Given the description of an element on the screen output the (x, y) to click on. 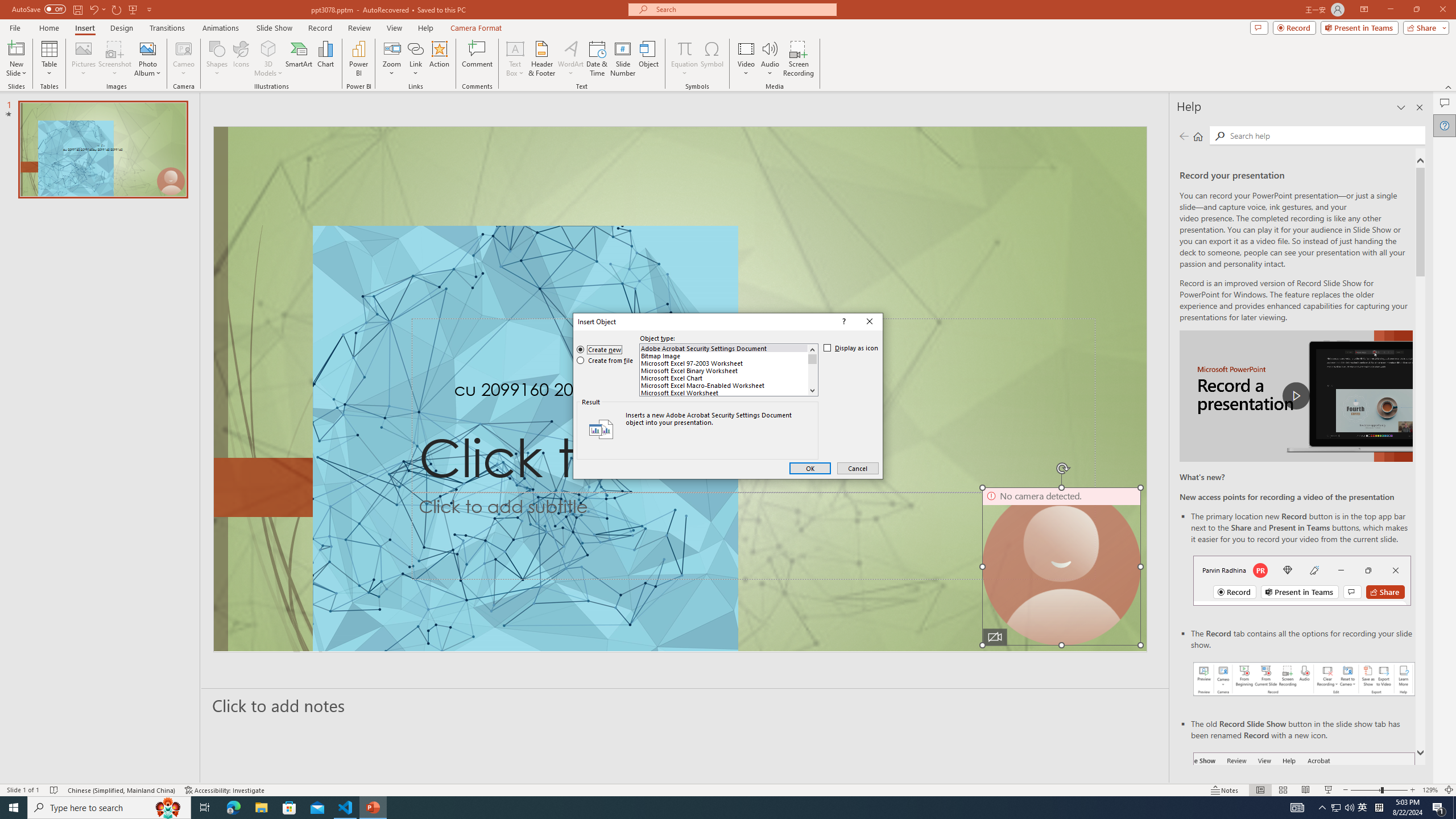
Microsoft Edge (233, 807)
Running applications (707, 807)
Record button in top bar (1301, 580)
Power BI (358, 58)
